Given the description of an element on the screen output the (x, y) to click on. 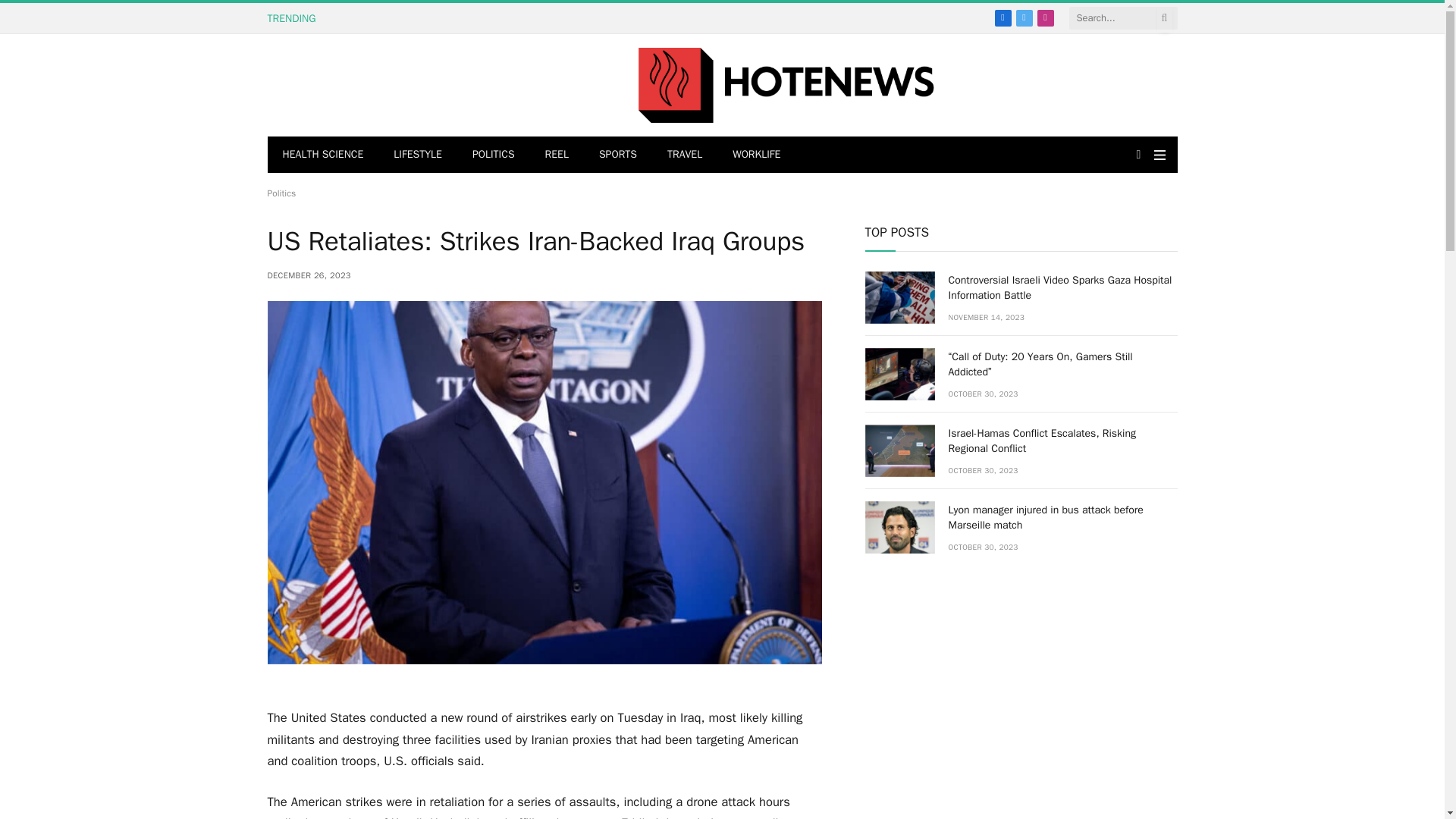
Switch to Dark Design - easier on eyes. (1138, 154)
Facebook (1002, 17)
WORKLIFE (755, 154)
LIFESTYLE (417, 154)
HEALTH SCIENCE (322, 154)
REEL (556, 154)
Instagram (1045, 17)
Hote News (786, 85)
POLITICS (493, 154)
SPORTS (617, 154)
TRAVEL (684, 154)
